Given the description of an element on the screen output the (x, y) to click on. 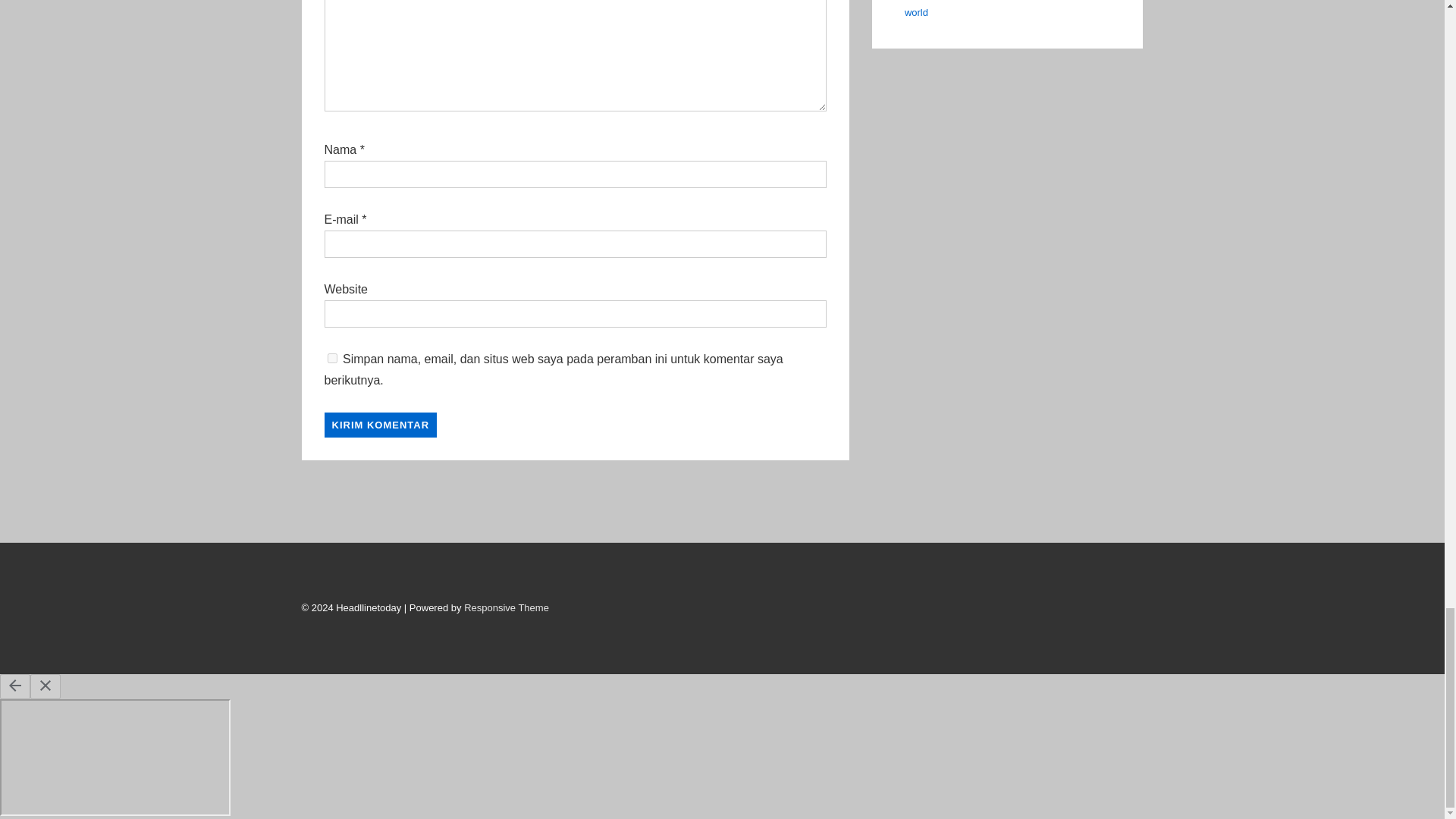
Kirim Komentar (381, 424)
Advertisement (721, 511)
yes (332, 357)
Kirim Komentar (381, 424)
